Given the description of an element on the screen output the (x, y) to click on. 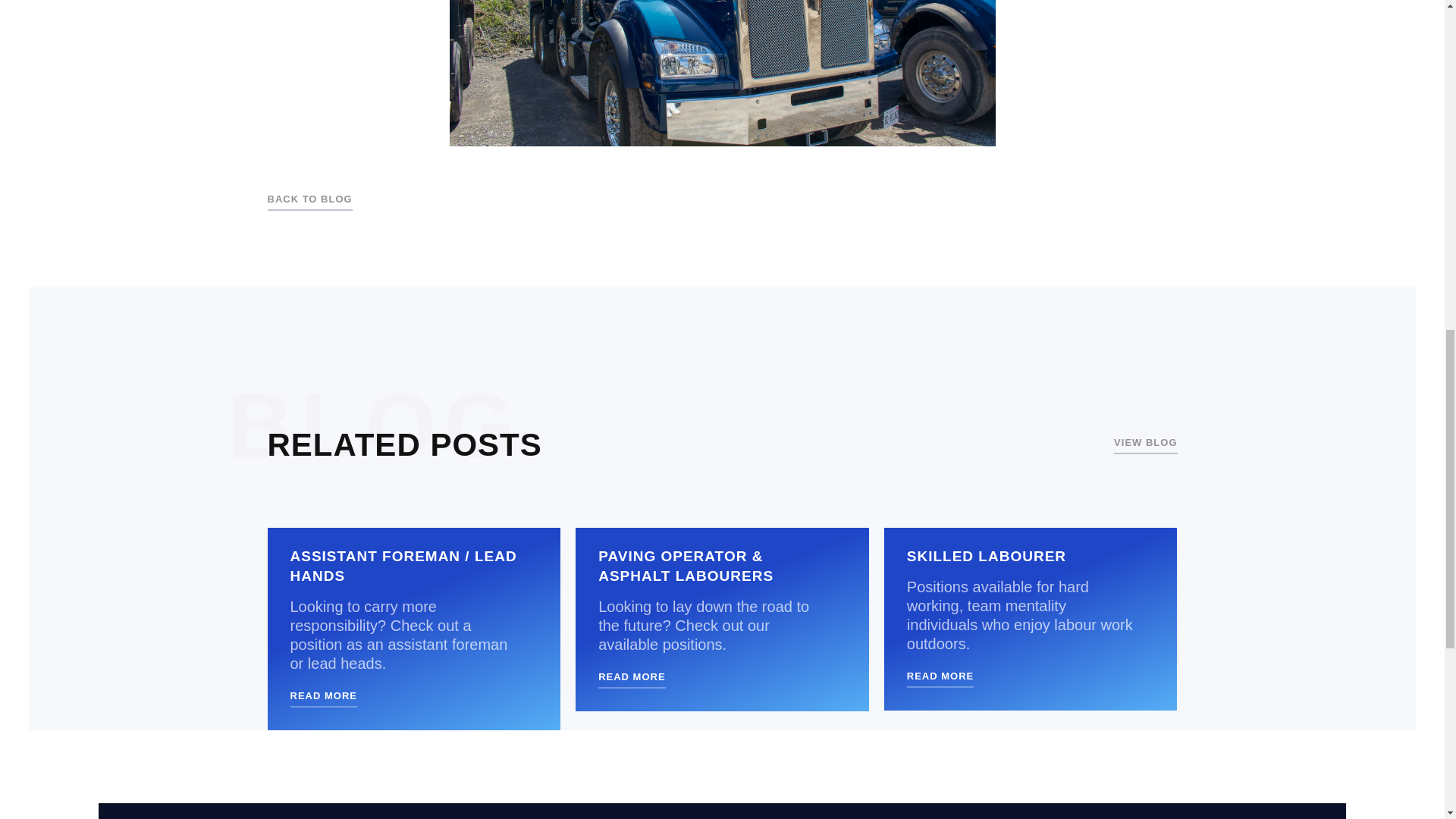
BACK TO BLOG (309, 200)
VIEW BLOG (1144, 444)
